Given the description of an element on the screen output the (x, y) to click on. 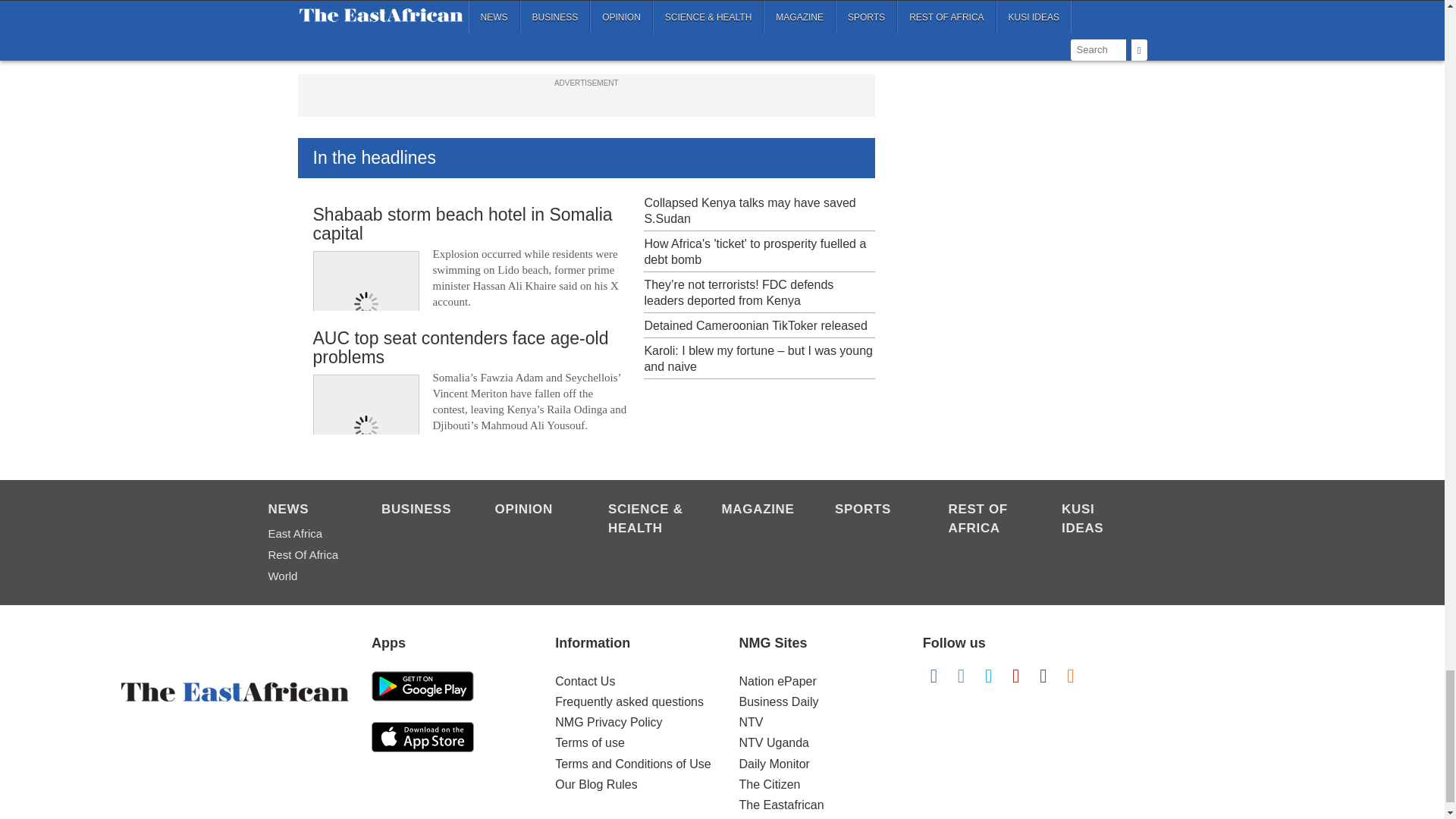
World (306, 576)
Opinion (533, 510)
KUSI IDEAS (1099, 519)
Rest of Africa (987, 519)
Contact Us (584, 680)
Business (419, 510)
Magazine (760, 510)
News (306, 510)
Frequently asked questions (628, 701)
Sports (873, 510)
